Given the description of an element on the screen output the (x, y) to click on. 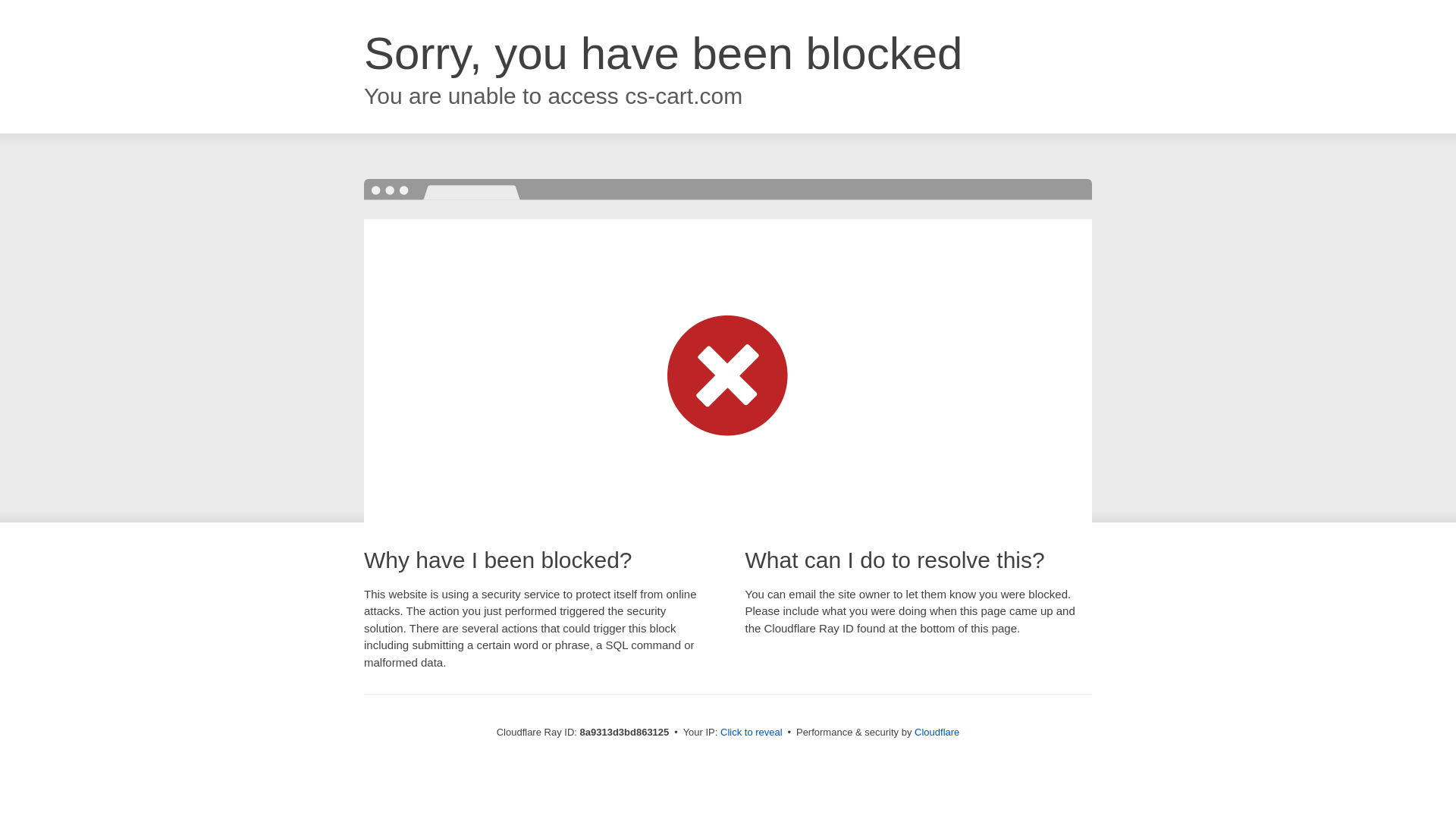
Click to reveal (751, 732)
Cloudflare (936, 731)
